Given the description of an element on the screen output the (x, y) to click on. 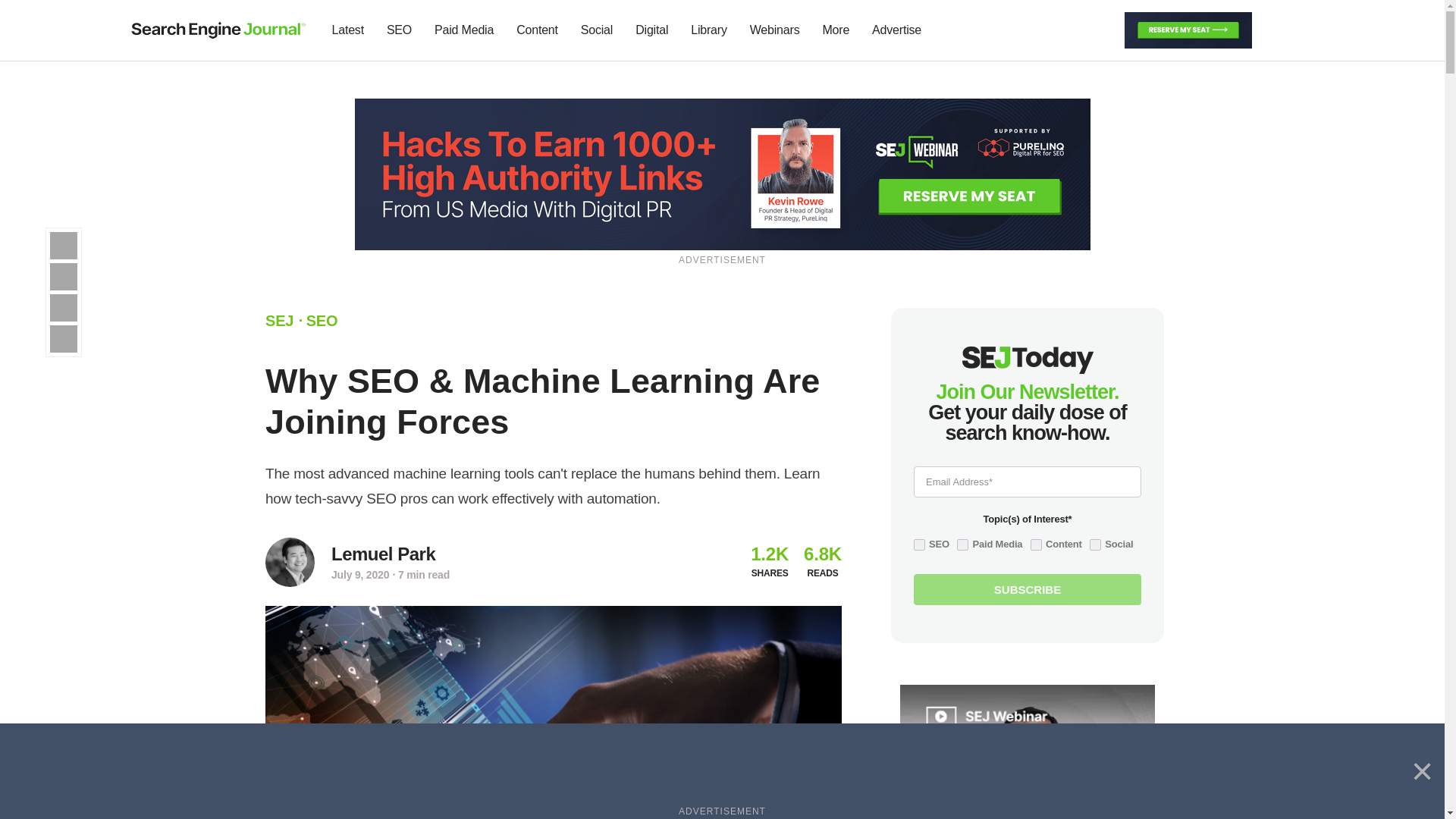
Go to Author Page (383, 553)
Register For Free (722, 172)
Register Now (1026, 760)
Paid Media (464, 30)
Go to Author Page (289, 562)
Latest (347, 30)
Subscribe to our Newsletter (1277, 30)
Register For Free (1187, 28)
